Given the description of an element on the screen output the (x, y) to click on. 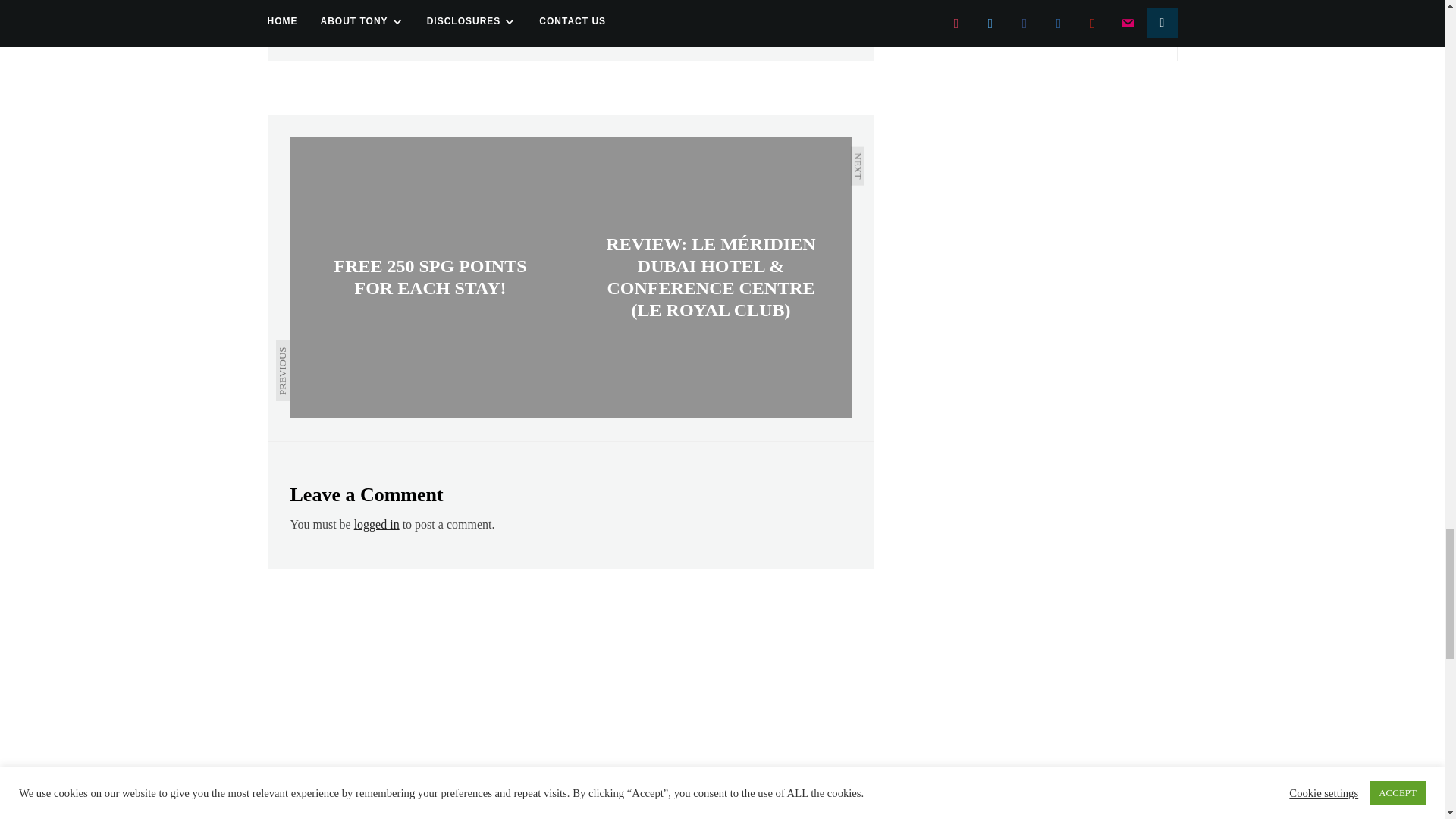
Free 250 SPG Points for Each Stay! (429, 277)
